Given the description of an element on the screen output the (x, y) to click on. 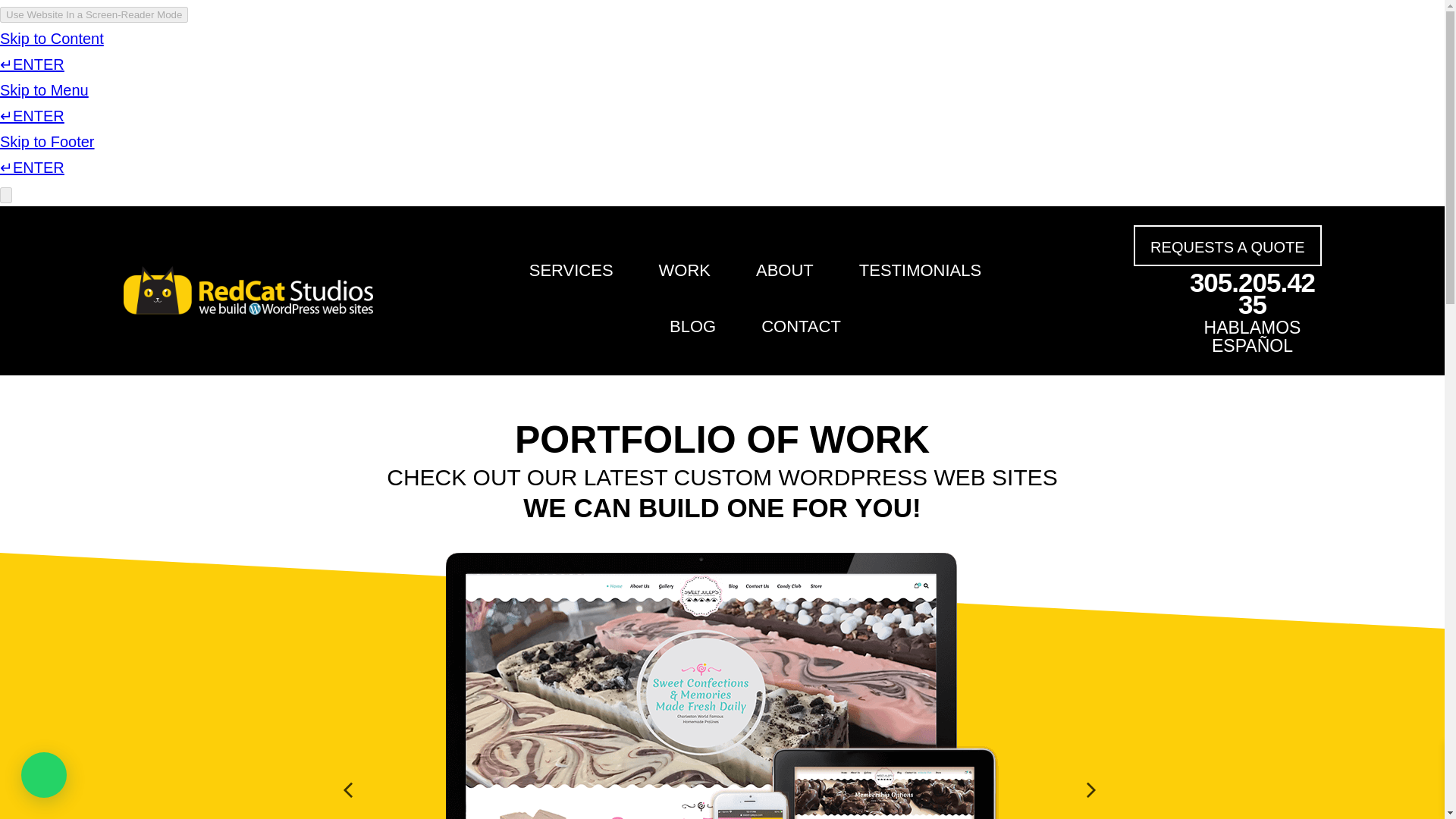
TESTIMONIALS (920, 270)
REQUESTS A QUOTE (1227, 245)
ABOUT (784, 270)
SERVICES (570, 270)
Red Cat Studios logo (247, 290)
BLOG (692, 326)
305.205.4235 (1251, 293)
CONTACT (801, 326)
WORK (684, 270)
